Given the description of an element on the screen output the (x, y) to click on. 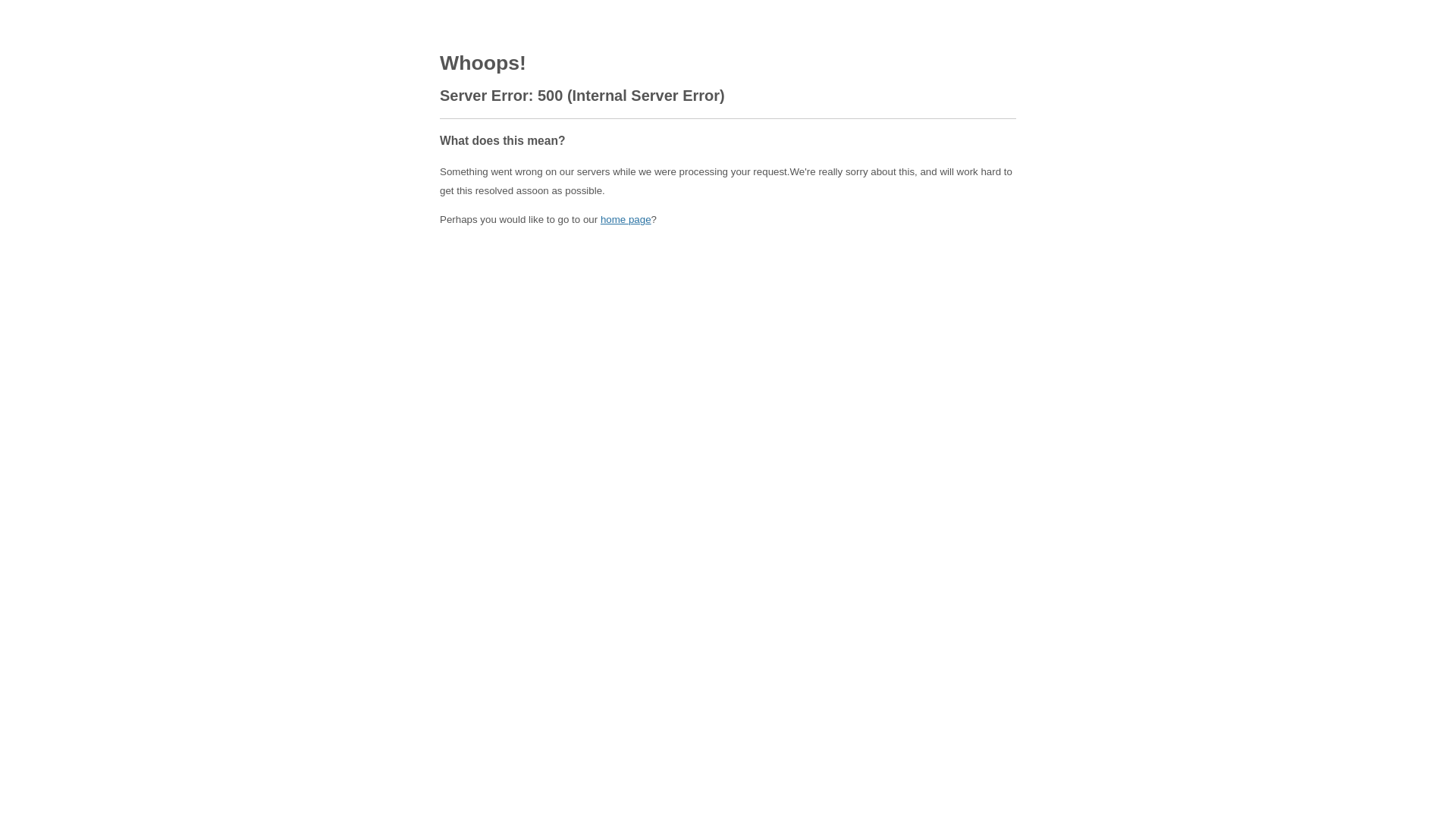
home page Element type: text (625, 219)
